Given the description of an element on the screen output the (x, y) to click on. 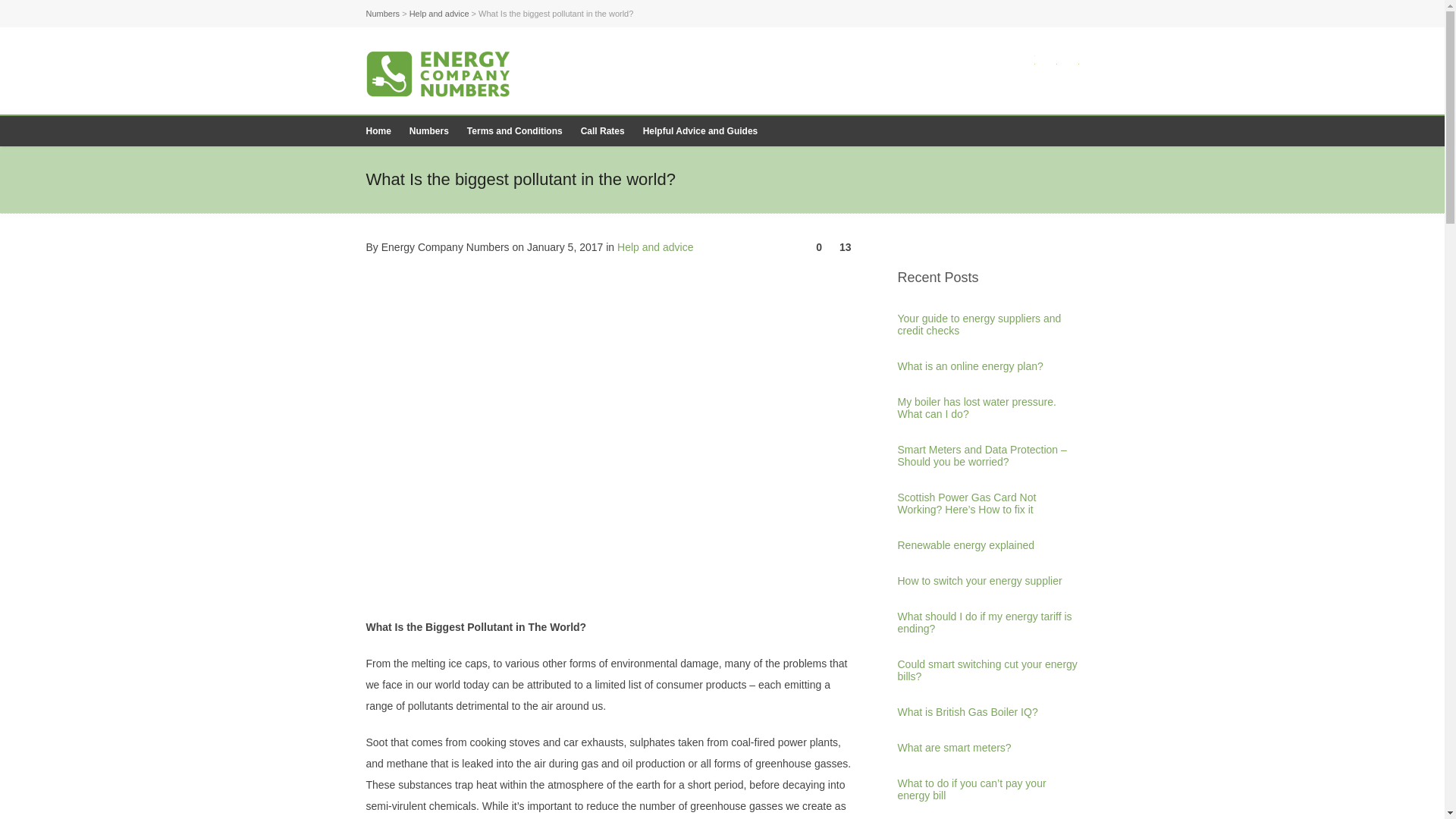
Home (377, 130)
RSS (1068, 58)
Go to the Help and advice category archives. (438, 13)
Numbers (429, 130)
Terms and Conditions (515, 130)
Helpful Advice and Guides (700, 130)
Call Rates (602, 130)
Numbers (381, 13)
Help and advice (438, 13)
Twitter (1024, 58)
